Given the description of an element on the screen output the (x, y) to click on. 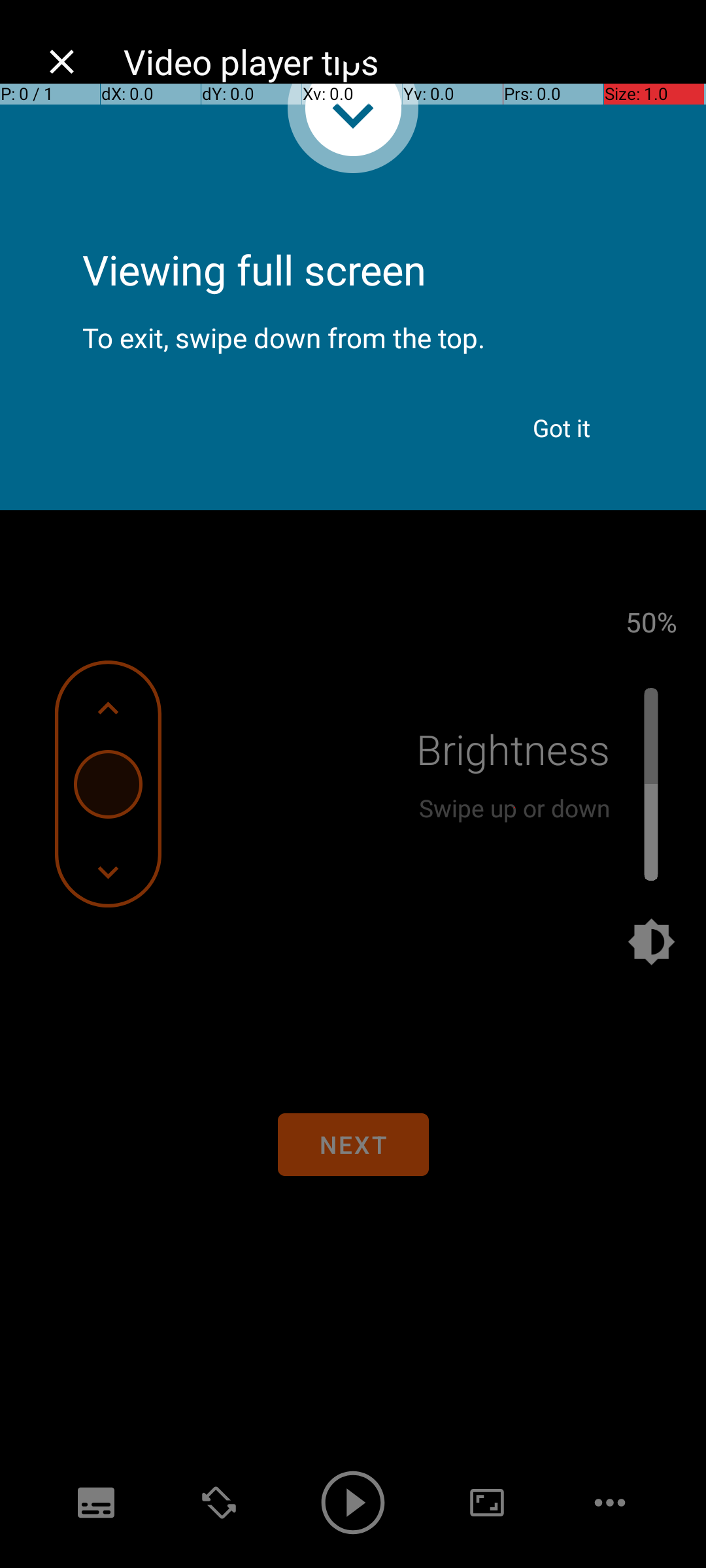
47% Element type: android.widget.TextView (650, 621)
Brightness Element type: android.widget.TextView (512, 748)
Swipe up or down Element type: android.widget.TextView (514, 807)
Viewing full screen Element type: android.widget.TextView (353, 235)
To exit, swipe down from the top. Element type: android.widget.TextView (353, 326)
Got it Element type: android.widget.Button (561, 427)
